Given the description of an element on the screen output the (x, y) to click on. 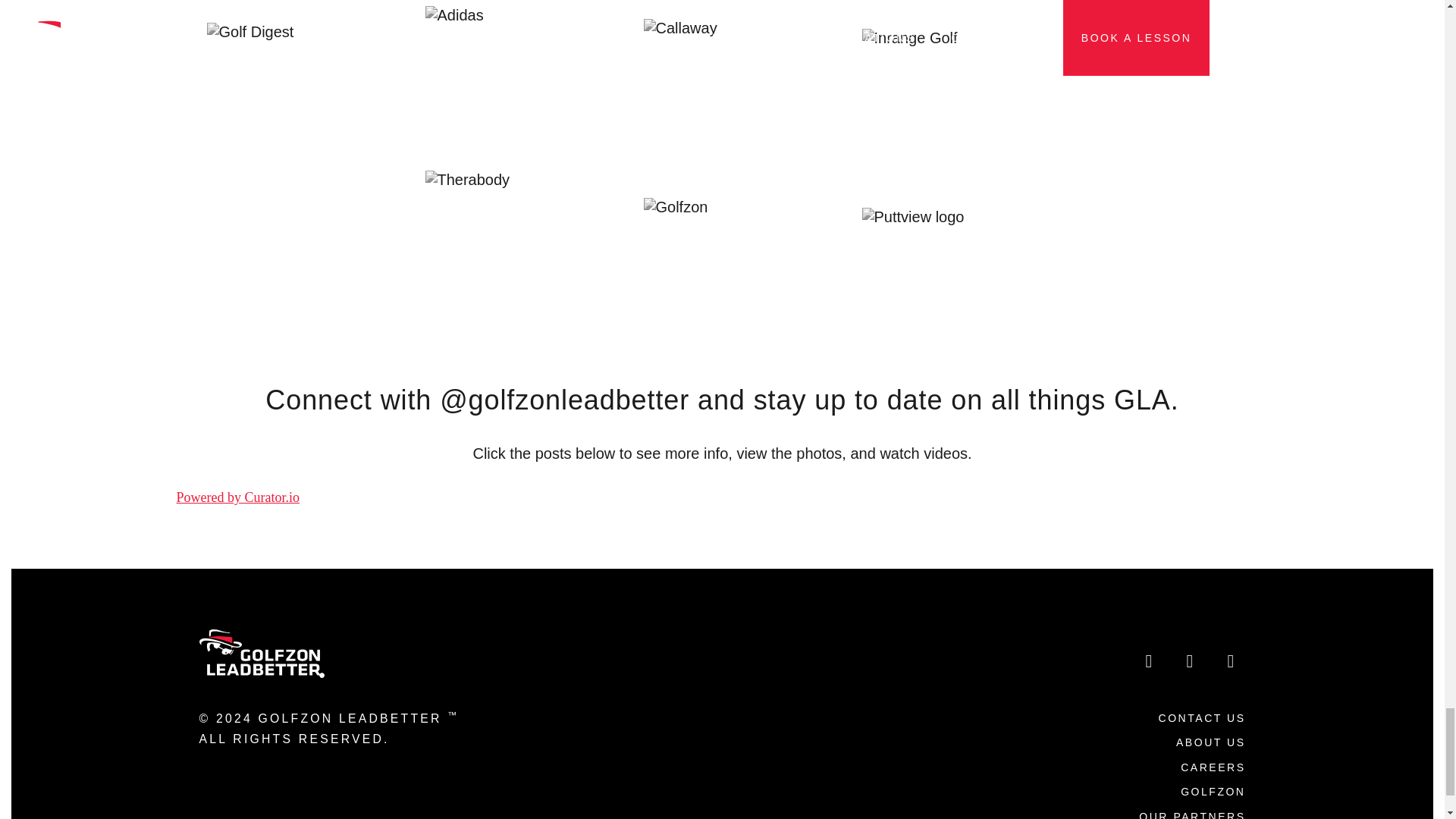
Golfzon Leadbetter (260, 651)
